Given the description of an element on the screen output the (x, y) to click on. 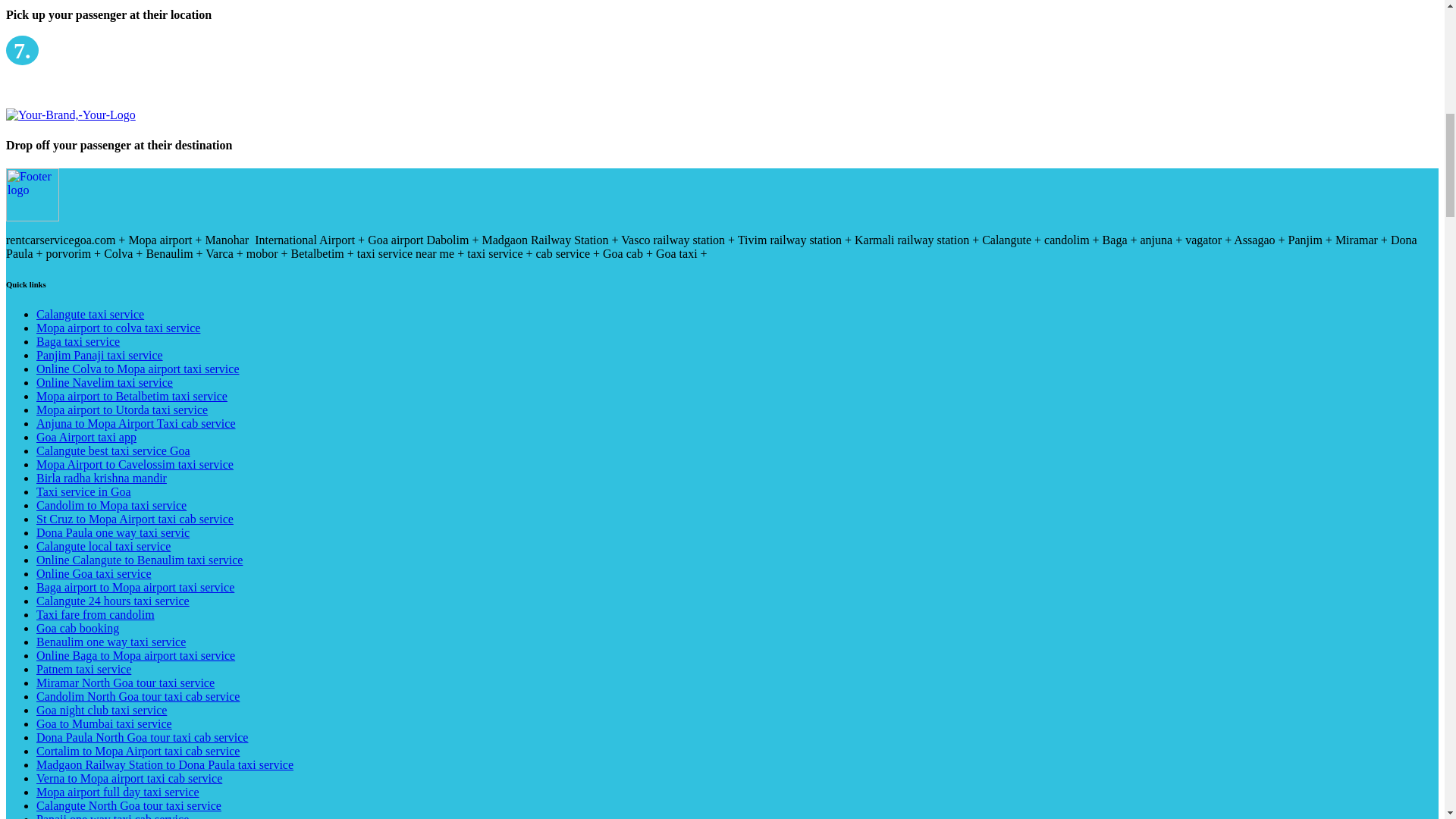
Panjim Panaji taxi service (99, 354)
Goa Airport taxi app (86, 436)
Mopa airport to Betalbetim taxi service (131, 395)
Goa cab booking (77, 627)
Baga airport to Mopa airport taxi service (135, 586)
Mopa airport to colva taxi service (118, 327)
Baga taxi service (77, 341)
Online Navelim taxi service (104, 382)
Goa night club taxi service (101, 709)
Online Baga to Mopa airport taxi service (135, 655)
Dona Paula one way taxi servic (112, 532)
Benaulim one way taxi service (111, 641)
Online Colva to Mopa airport taxi service (137, 368)
Candolim North Goa tour taxi cab service (138, 696)
Patnem taxi service (83, 668)
